Given the description of an element on the screen output the (x, y) to click on. 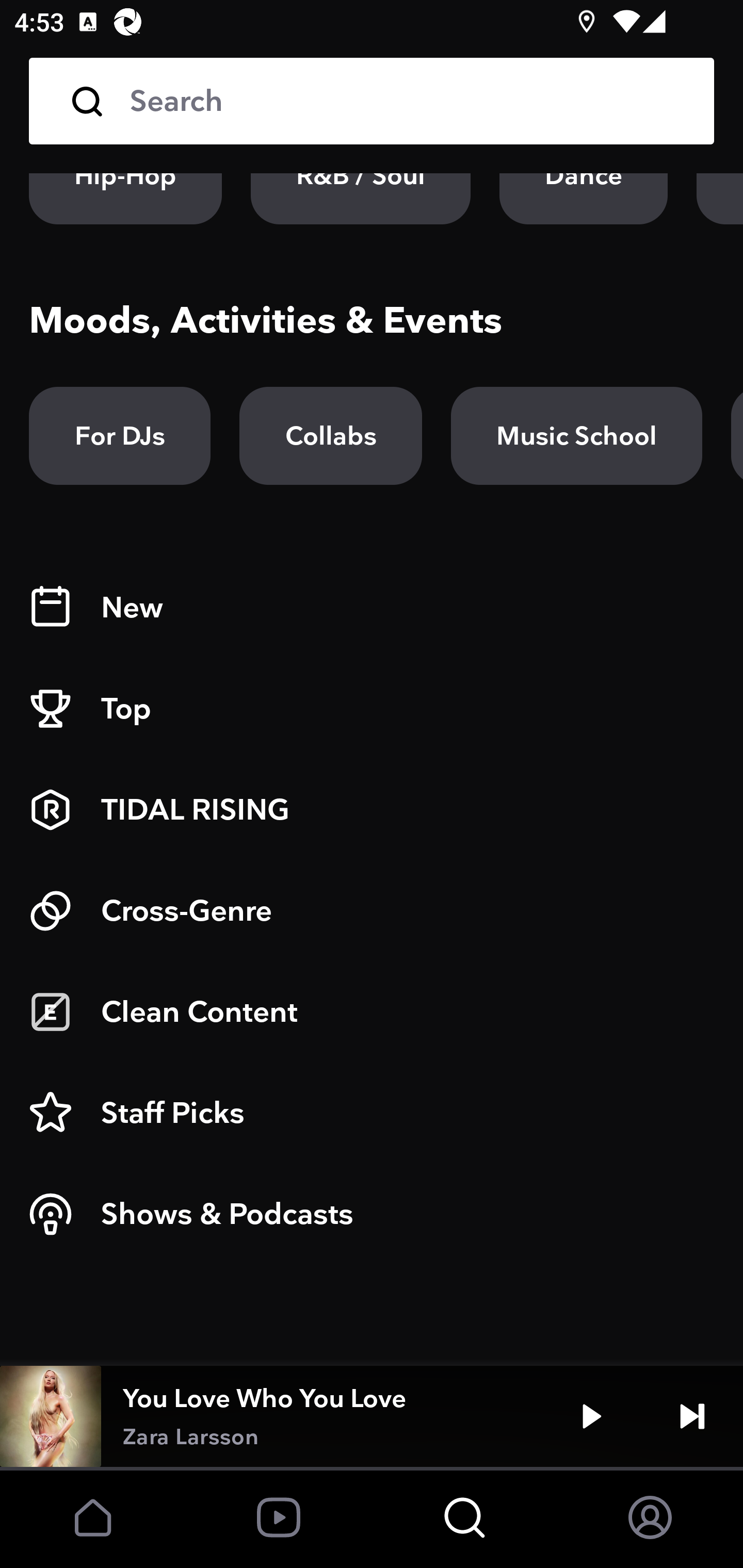
Search (371, 101)
Search (407, 100)
For DJs (119, 435)
Collabs (330, 435)
Music School (576, 435)
New (371, 607)
Top (371, 708)
TIDAL RISING (371, 809)
Cross-Genre (371, 910)
Clean Content (371, 1012)
Staff Picks (371, 1113)
Shows & Podcasts (371, 1214)
You Love Who You Love Zara Larsson Play (371, 1416)
Play (590, 1416)
